Given the description of an element on the screen output the (x, y) to click on. 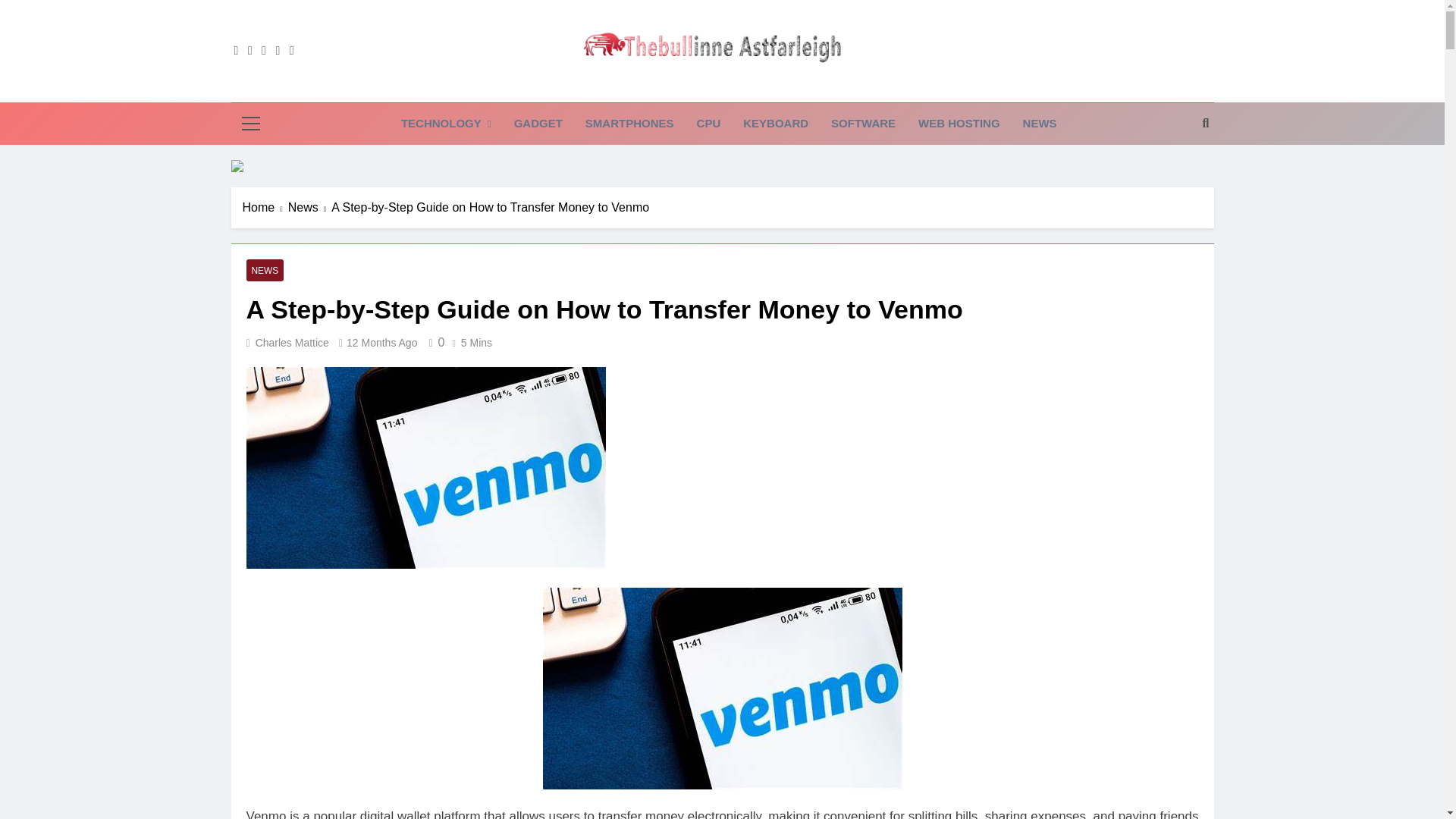
TECHNOLOGY (446, 123)
KEYBOARD (775, 123)
NEWS (1039, 123)
Thebullinne Astfarleigh (653, 88)
WEB HOSTING (959, 123)
SOFTWARE (863, 123)
CPU (708, 123)
GADGET (537, 123)
SMARTPHONES (629, 123)
